Given the description of an element on the screen output the (x, y) to click on. 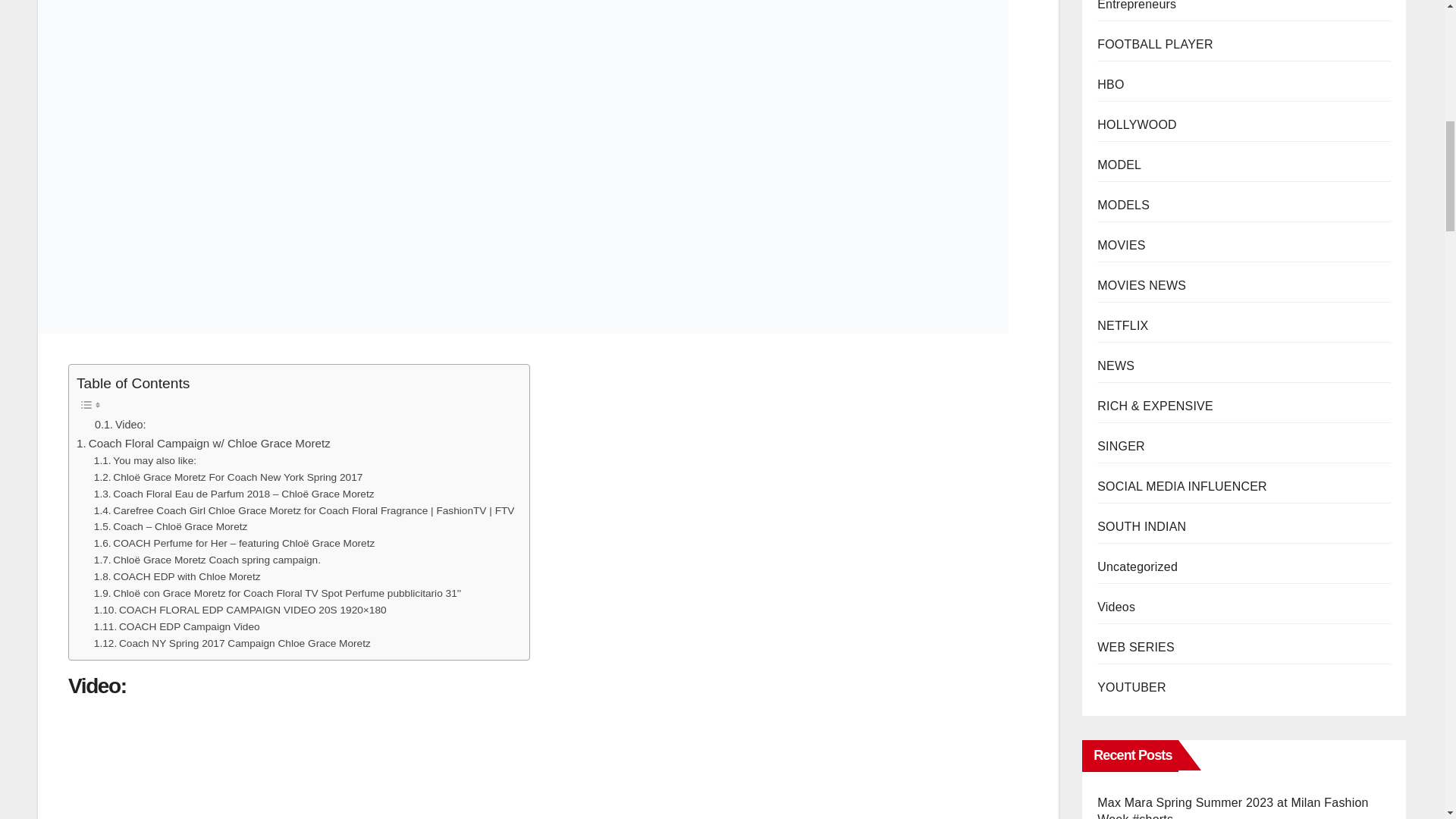
Video: (119, 425)
You may also like: (145, 460)
